Given the description of an element on the screen output the (x, y) to click on. 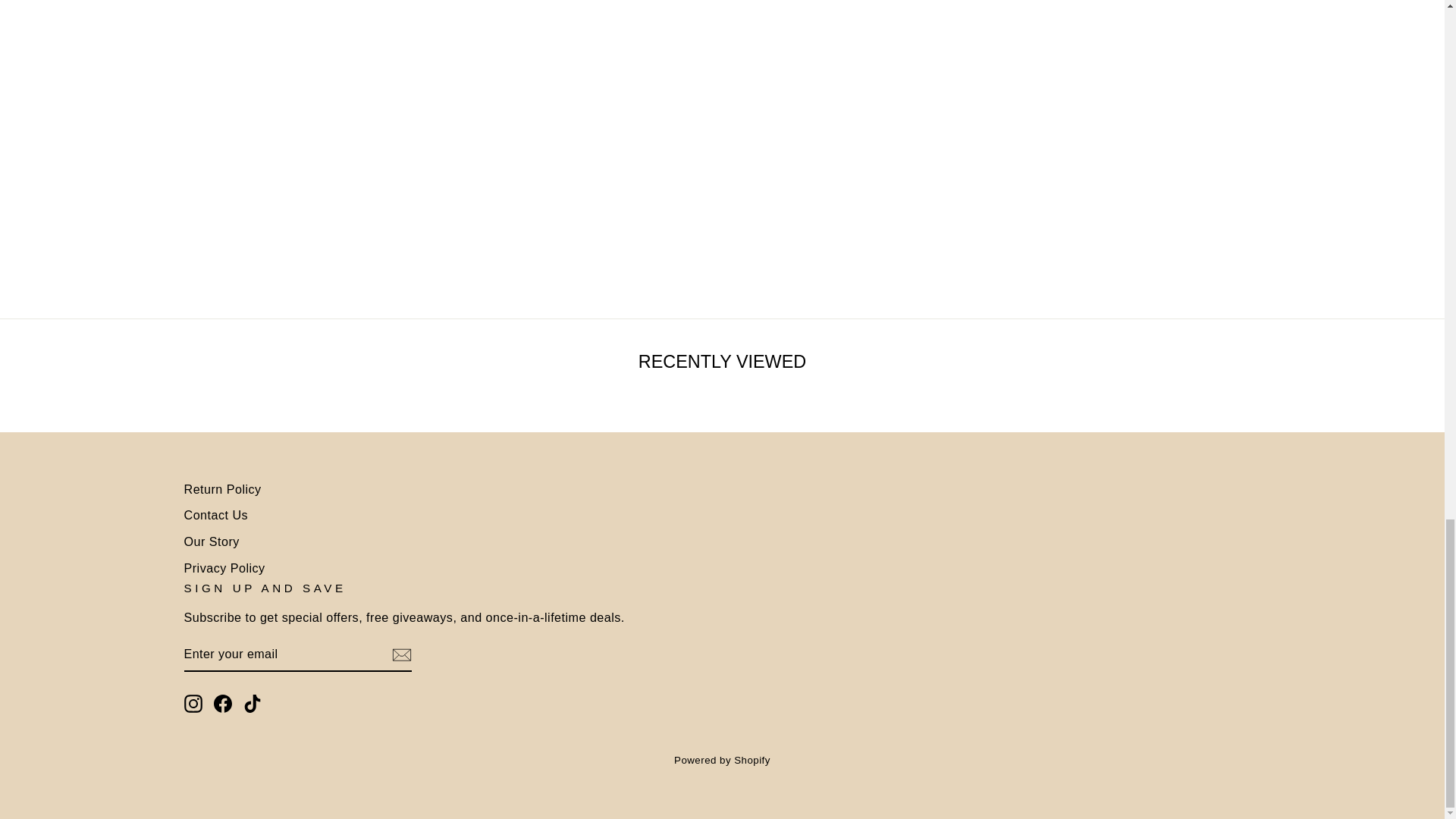
Signature Look Boutique on Instagram (192, 703)
Signature Look Boutique on TikTok (251, 703)
Signature Look Boutique on Facebook (222, 703)
icon-email (400, 655)
instagram (192, 703)
